Given the description of an element on the screen output the (x, y) to click on. 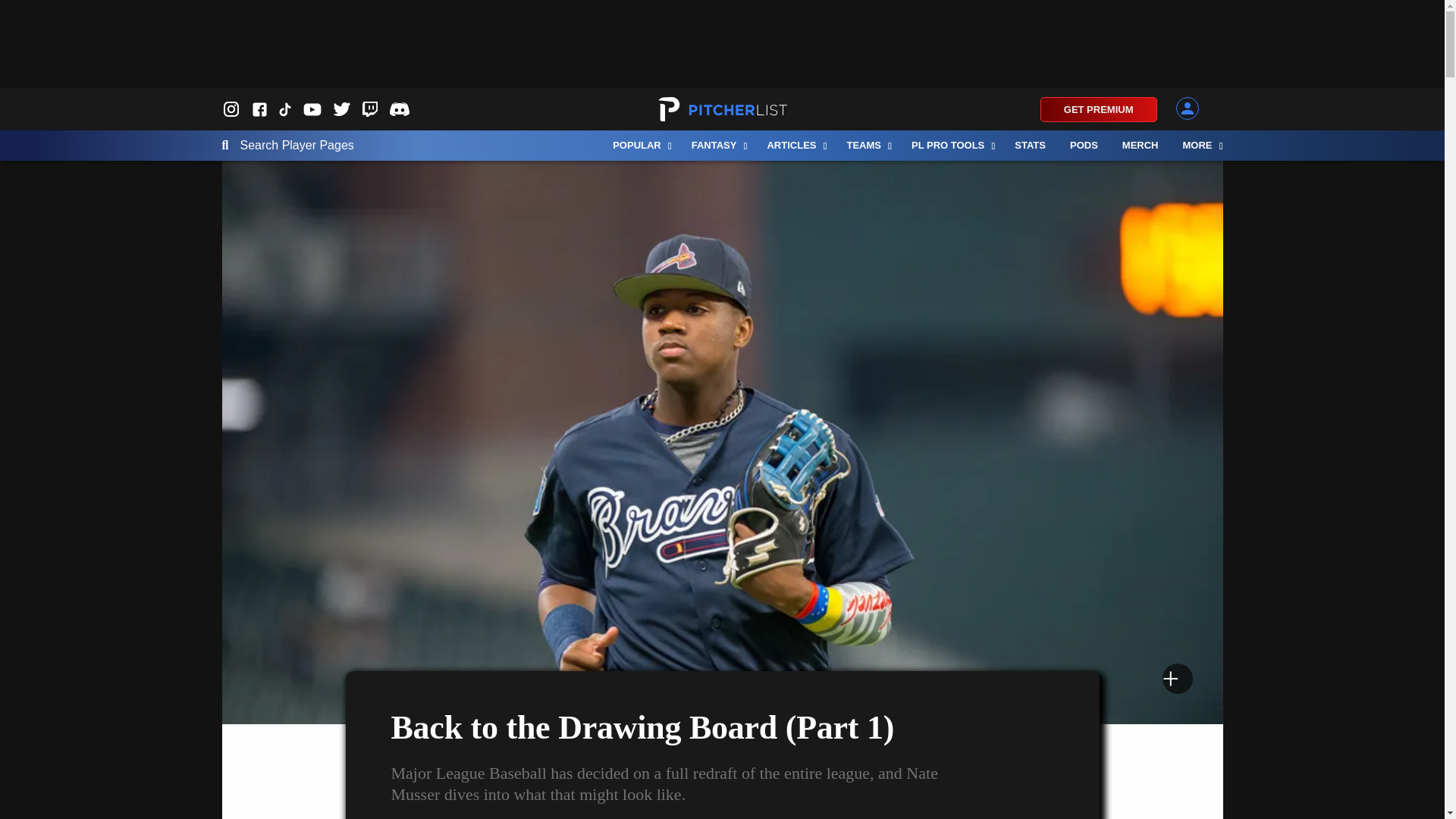
GET PREMIUM (1099, 109)
FANTASY (717, 145)
